Given the description of an element on the screen output the (x, y) to click on. 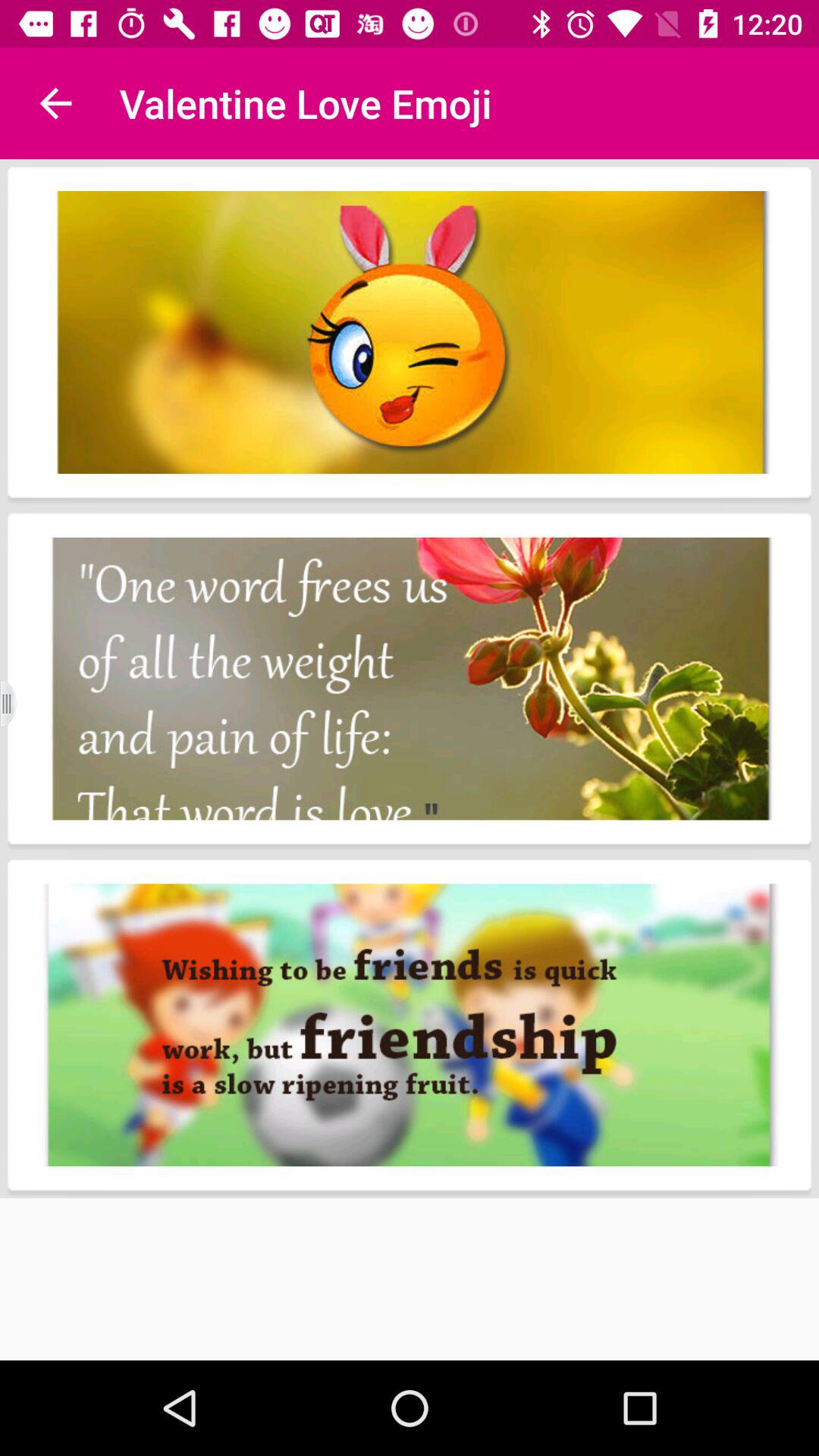
open the item next to the valentine love emoji (55, 103)
